Given the description of an element on the screen output the (x, y) to click on. 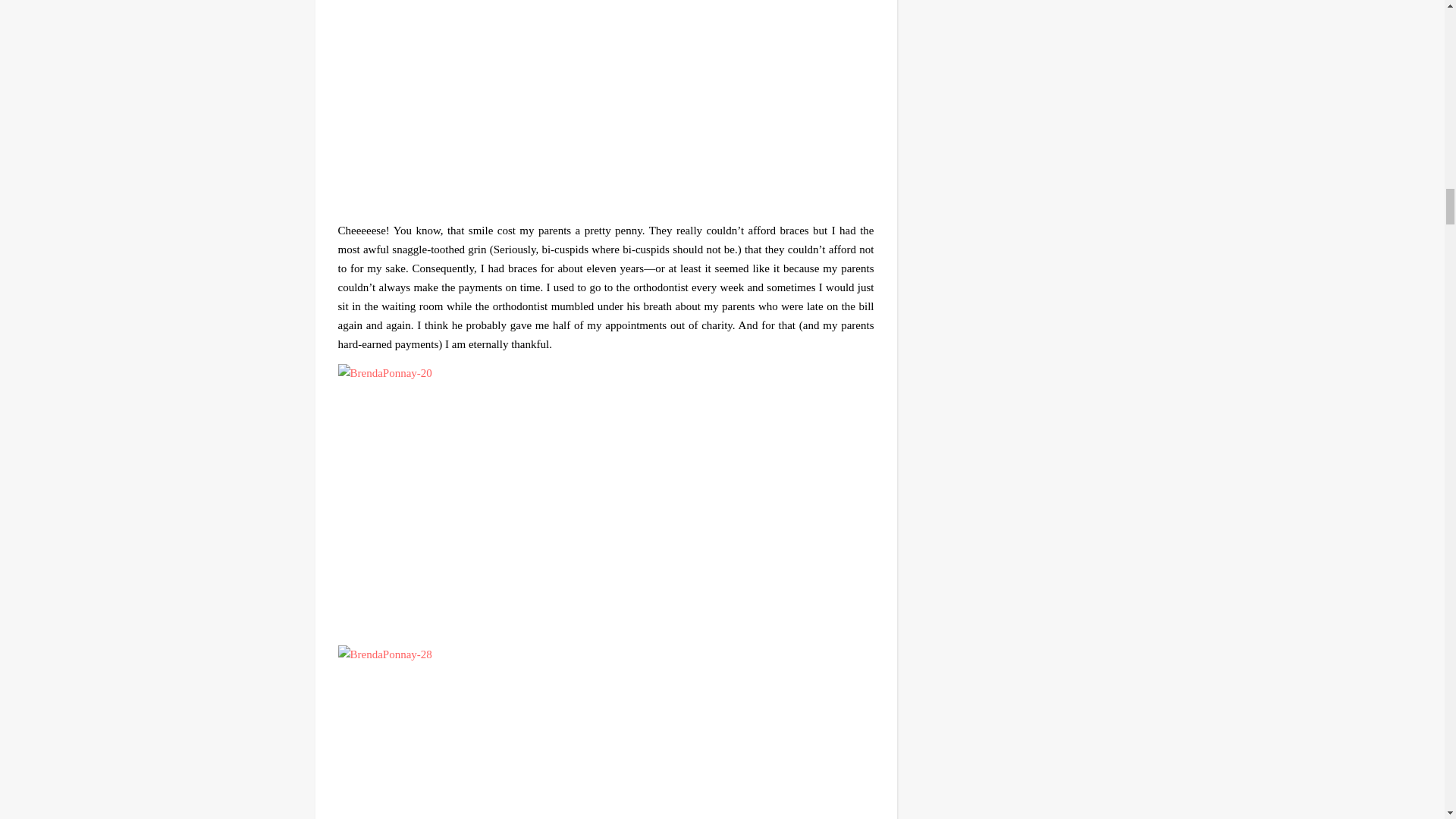
BrendaPonnay-22 by secret agent josephine, on Flickr (606, 105)
